Given the description of an element on the screen output the (x, y) to click on. 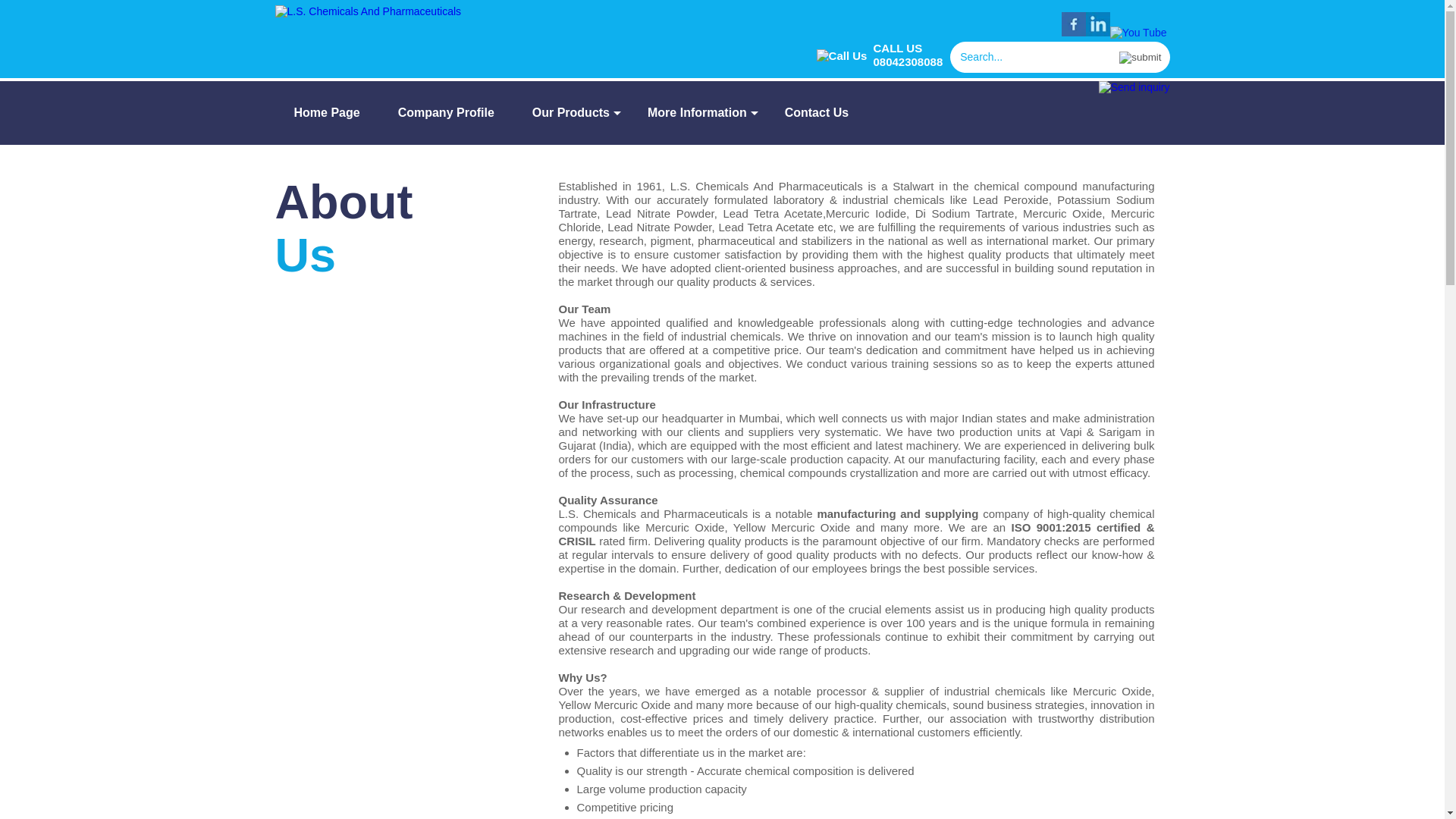
Search... (1035, 57)
Home Page (326, 112)
 L.S. Chemicals And Pharmaceuticals (368, 10)
Our Products (570, 112)
You Tube (1138, 32)
Call Us (844, 52)
LinkedIn (1097, 32)
submit (1139, 57)
Send inquiry (1134, 87)
Facebook (1073, 32)
Company Profile (445, 112)
